Given the description of an element on the screen output the (x, y) to click on. 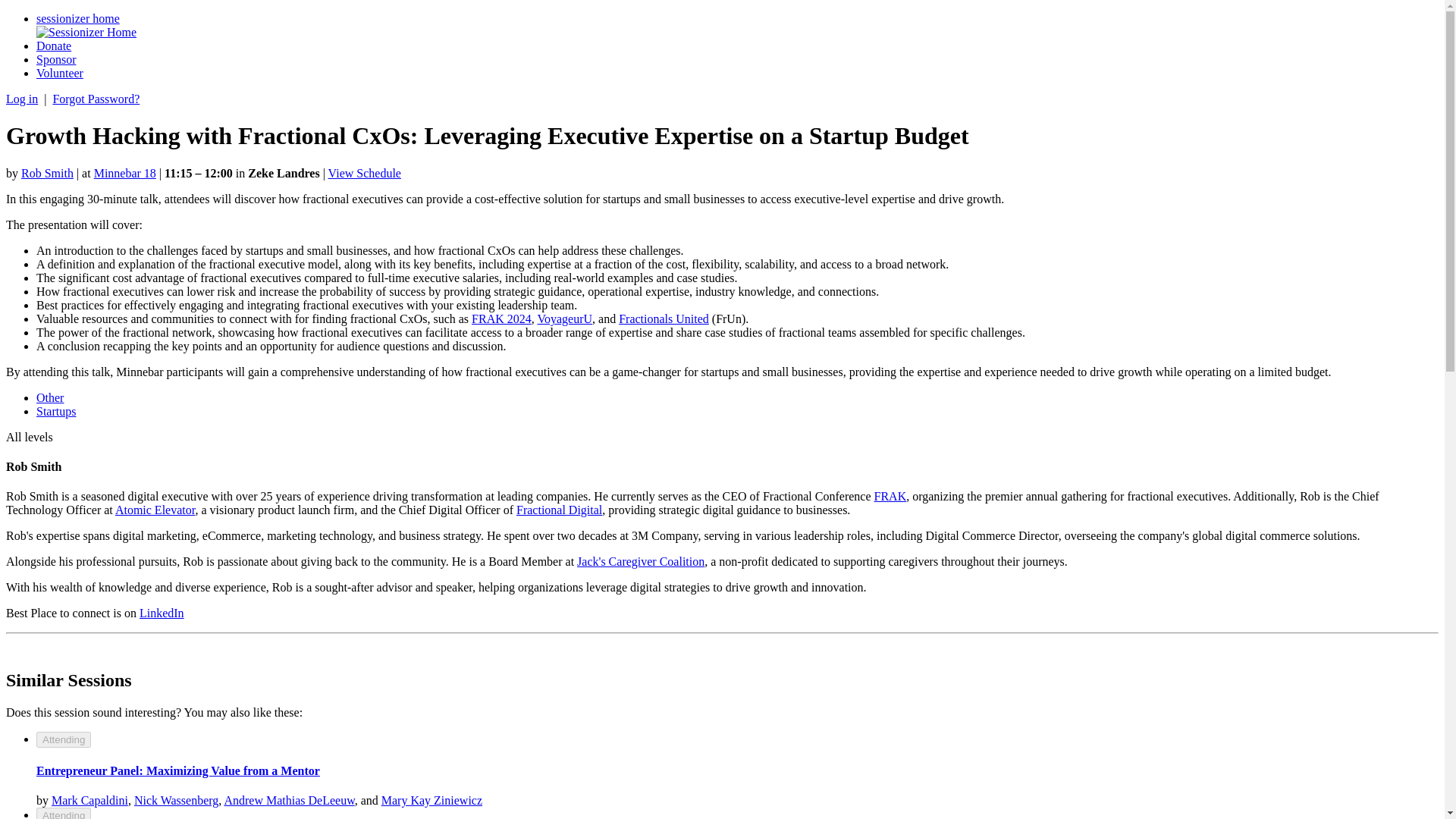
Forgot Password? (95, 98)
Nick Wassenberg (175, 799)
FRAK 2024 (501, 318)
Atomic Elevator (155, 509)
FRAK (891, 495)
Mark Capaldini (89, 799)
Volunteer (59, 72)
Fractional Digital (559, 509)
Attending (63, 739)
Log in (21, 98)
Andrew Mathias DeLeeuw (288, 799)
Fractionals United (663, 318)
View Schedule (365, 173)
Donate (53, 45)
Jack's Caregiver Coalition (640, 561)
